Given the description of an element on the screen output the (x, y) to click on. 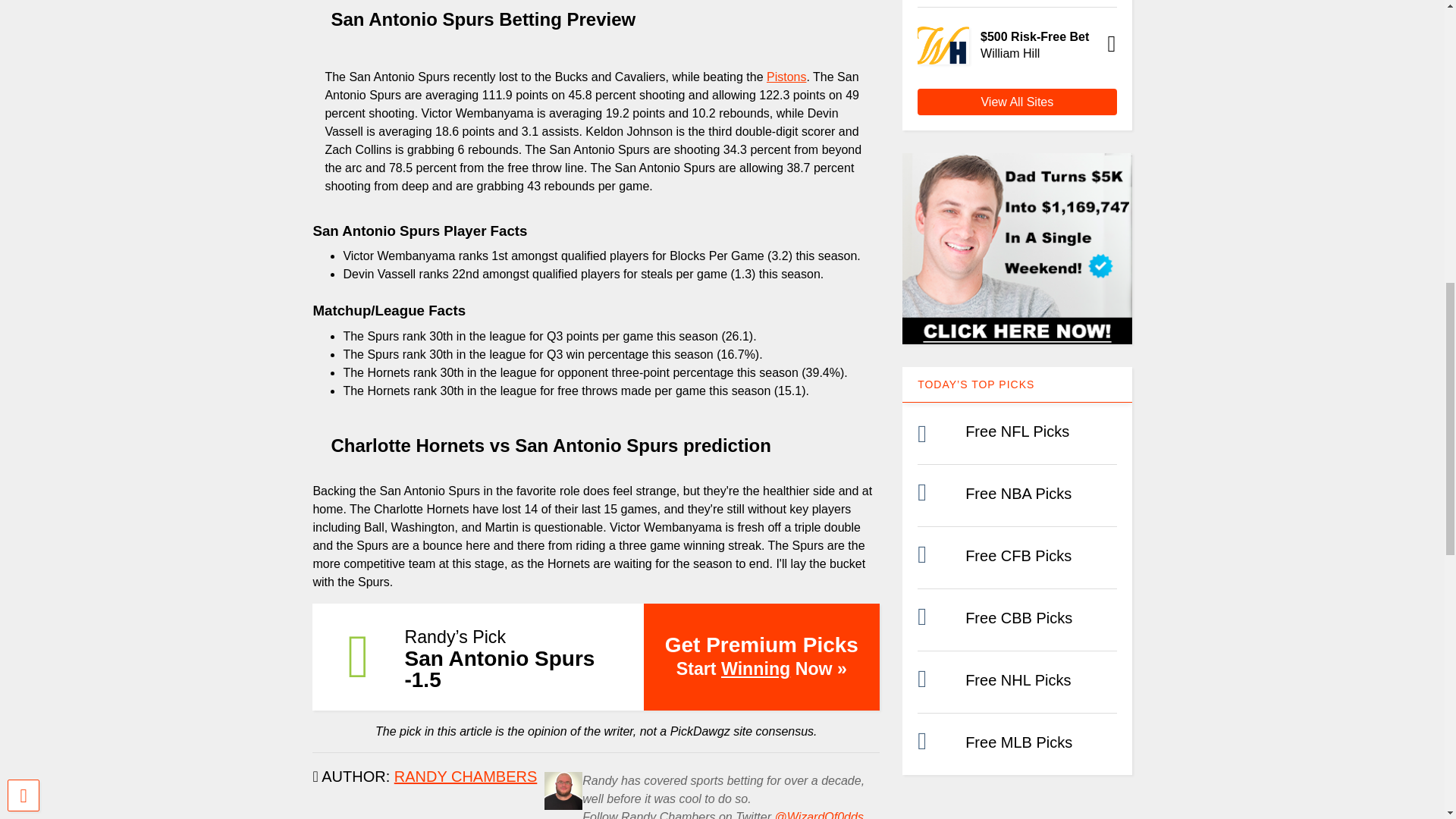
Free CFB Picks (1018, 555)
Free NHL Picks (1017, 679)
author profile (465, 776)
Free NFL Picks (1016, 431)
Free NBA Picks (1018, 493)
Free CBB Picks (1018, 617)
Free MLB Picks (1018, 742)
